Given the description of an element on the screen output the (x, y) to click on. 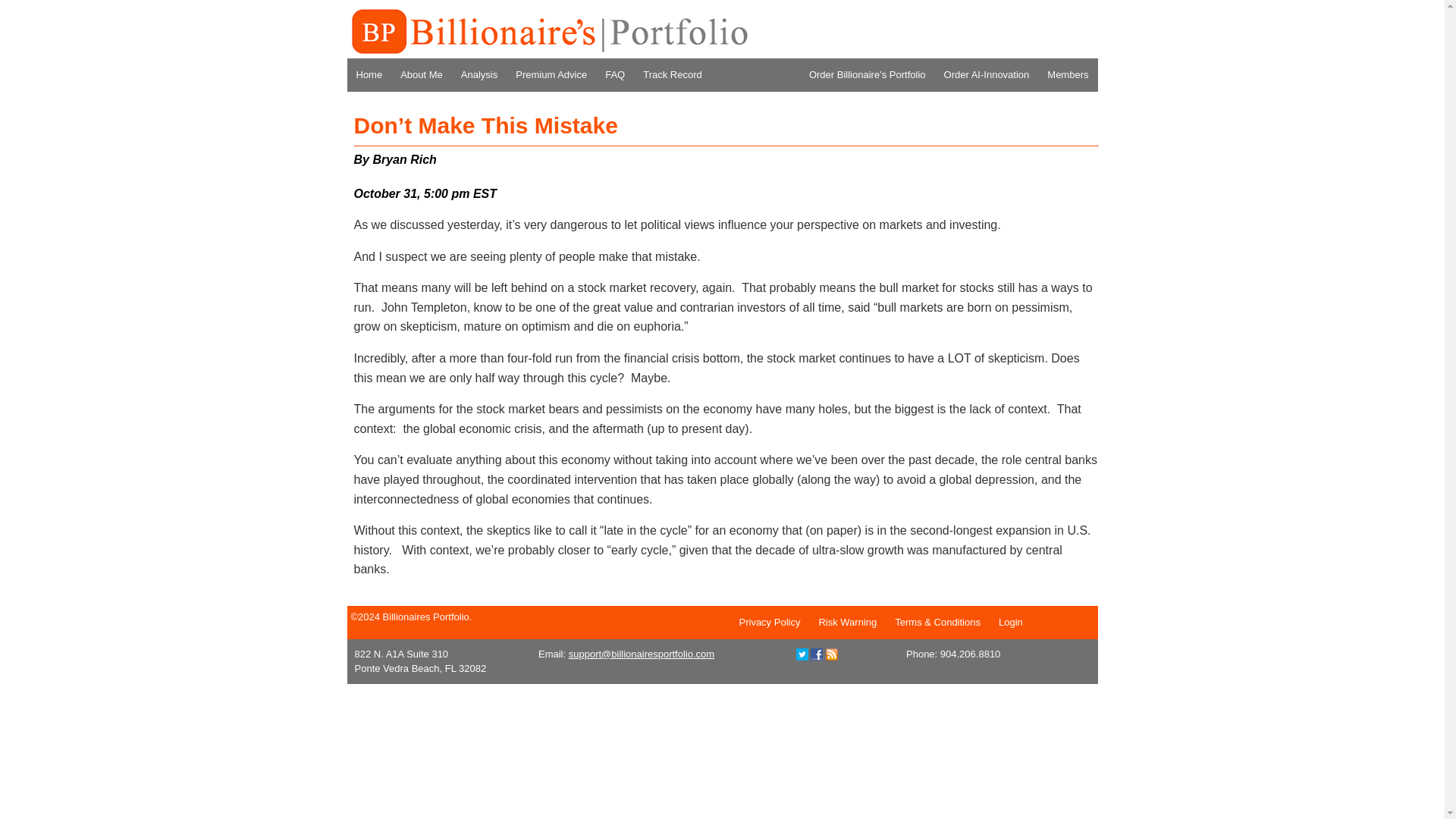
RSS (831, 654)
Risk Warning (847, 622)
Home (369, 74)
Analysis (478, 74)
Members (1067, 74)
About Me (421, 74)
Premium Advice (550, 74)
FAQ (614, 74)
Global Investor Monthly (548, 31)
Track Record (672, 74)
Order AI-Innovation (986, 74)
Twitter (802, 654)
Facebook (816, 654)
Login (1010, 622)
Privacy Policy (768, 622)
